Given the description of an element on the screen output the (x, y) to click on. 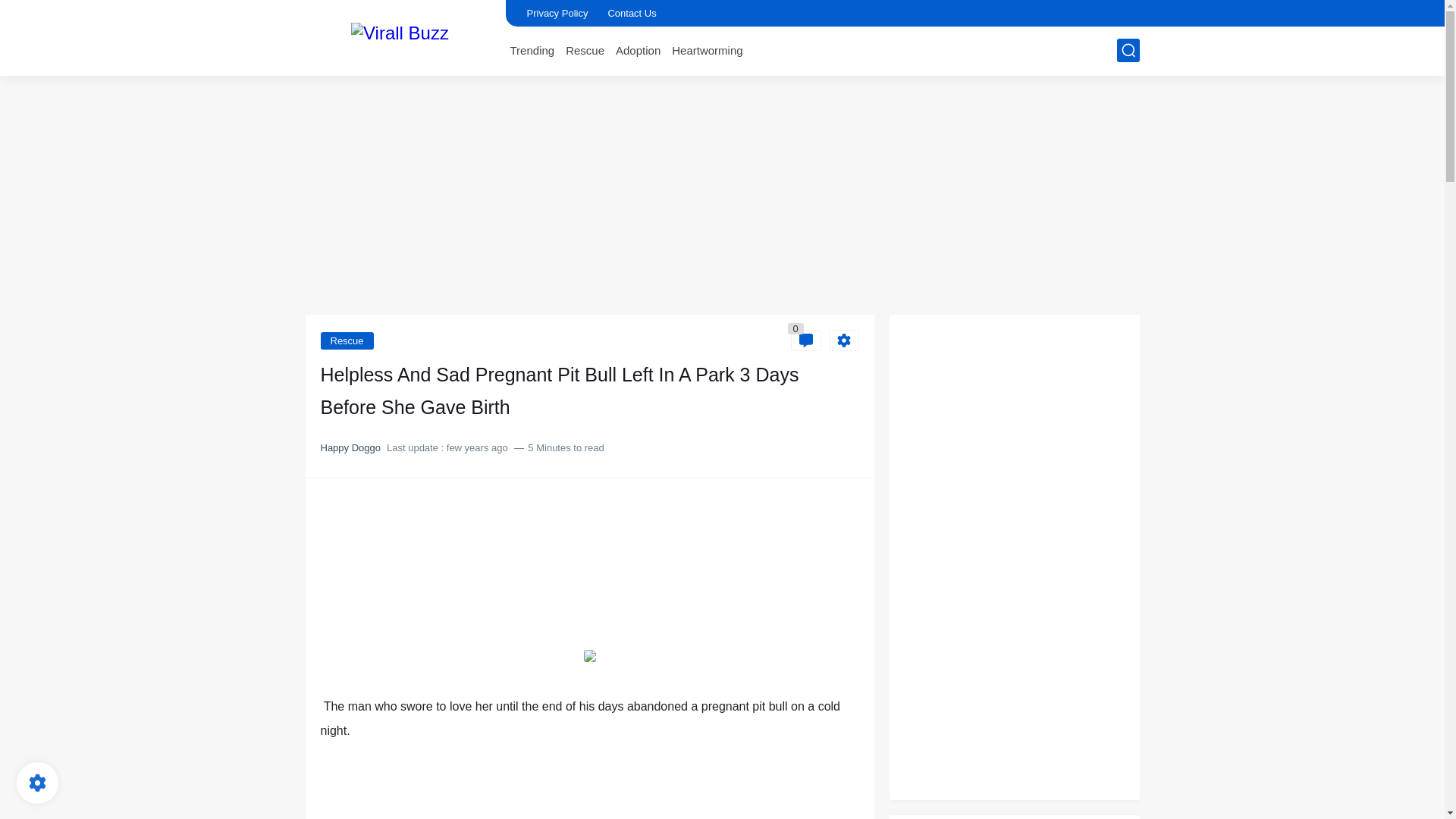
Rescue (585, 50)
Adoption (638, 50)
Heartworming (706, 50)
Trending (531, 50)
Privacy Policy (556, 12)
0 (805, 340)
Adoption (638, 50)
Contact Us (631, 12)
Trending (531, 50)
Heartworming (706, 50)
